Given the description of an element on the screen output the (x, y) to click on. 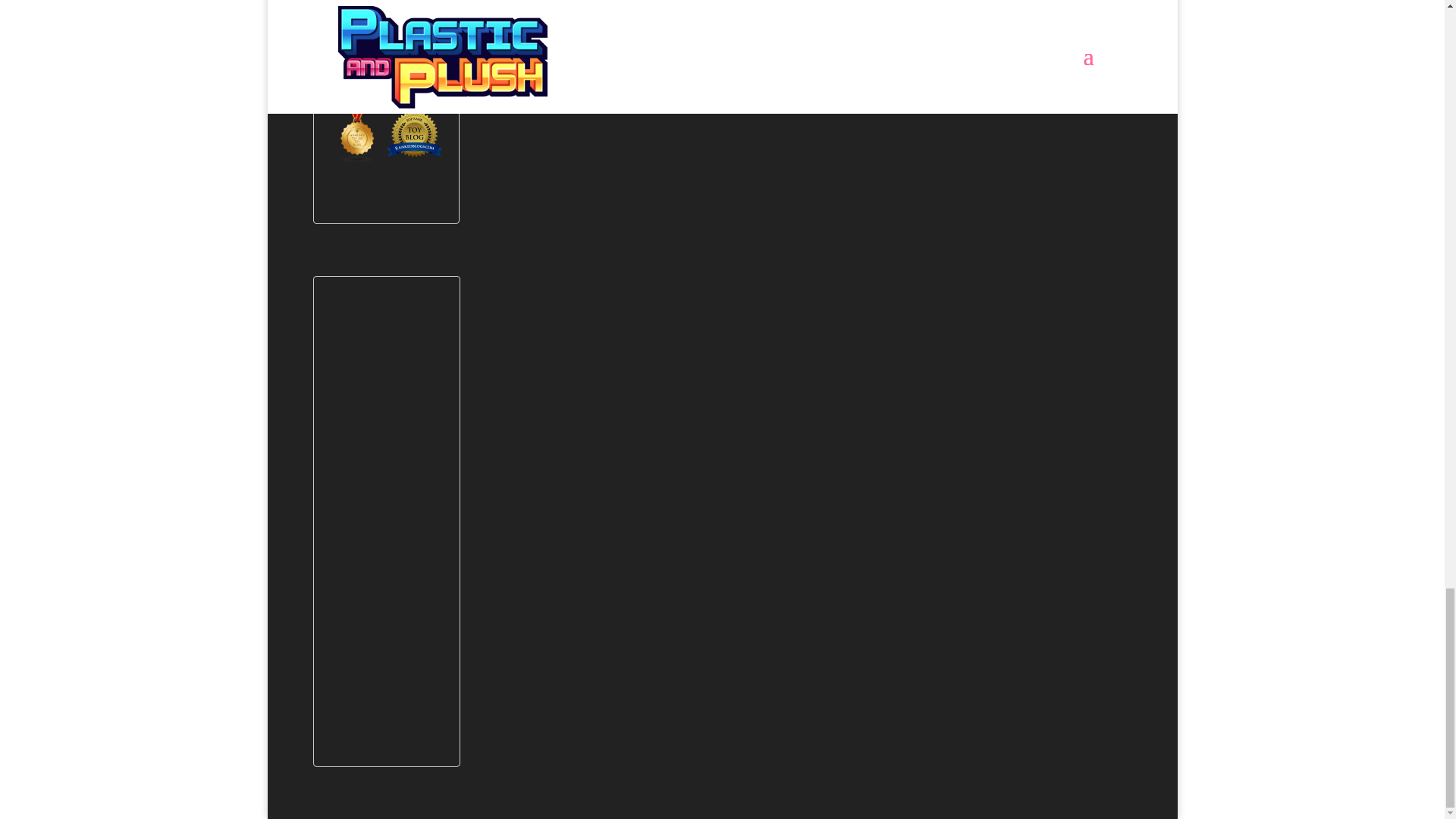
Toy Blogs (357, 160)
